Given the description of an element on the screen output the (x, y) to click on. 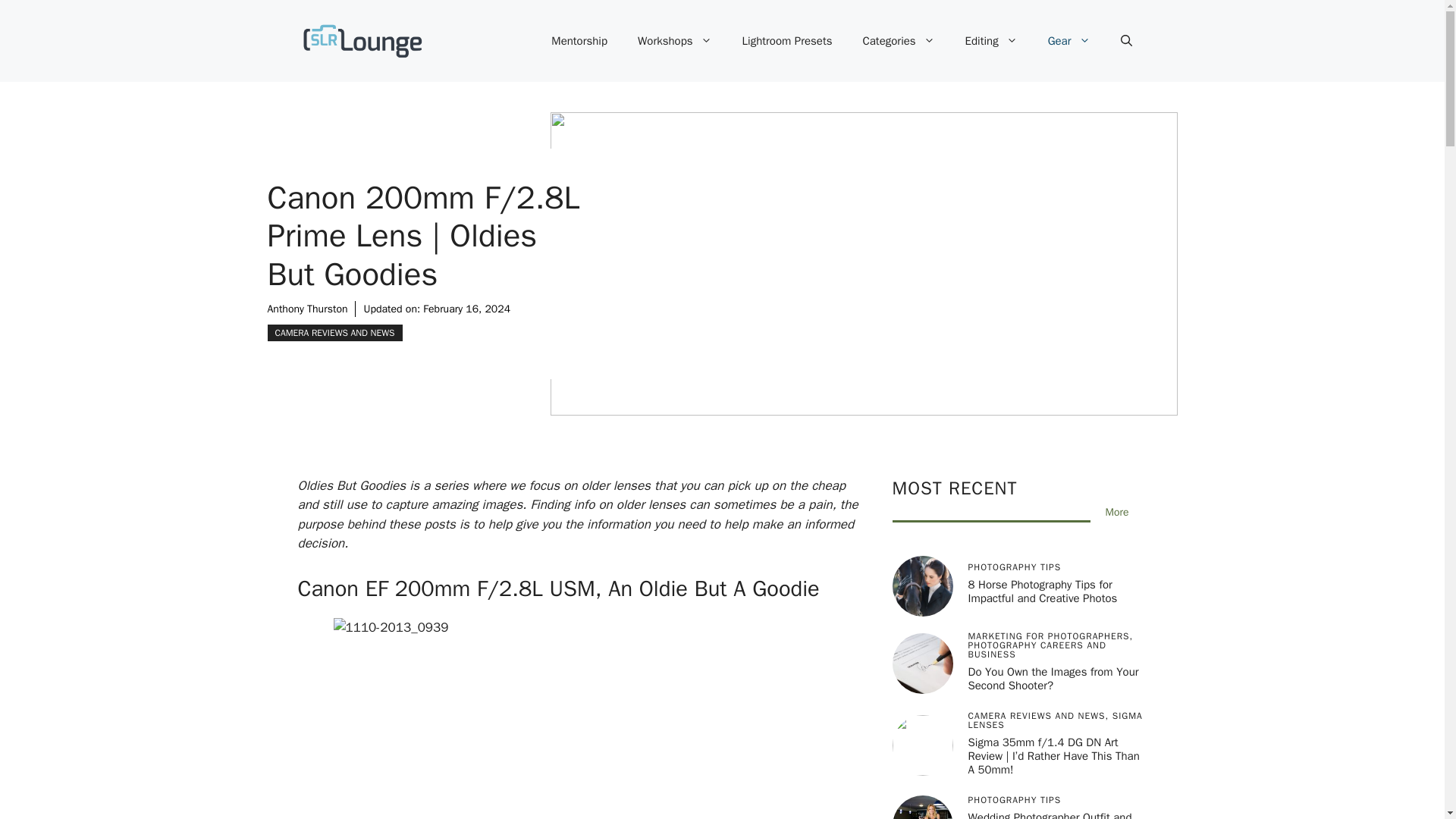
Workshops (674, 40)
Mentorship (579, 40)
Categories (898, 40)
CAMERA REVIEWS AND NEWS (333, 332)
Lightroom Presets (786, 40)
Editing (991, 40)
Gear (1068, 40)
Anthony Thurston (306, 308)
